Given the description of an element on the screen output the (x, y) to click on. 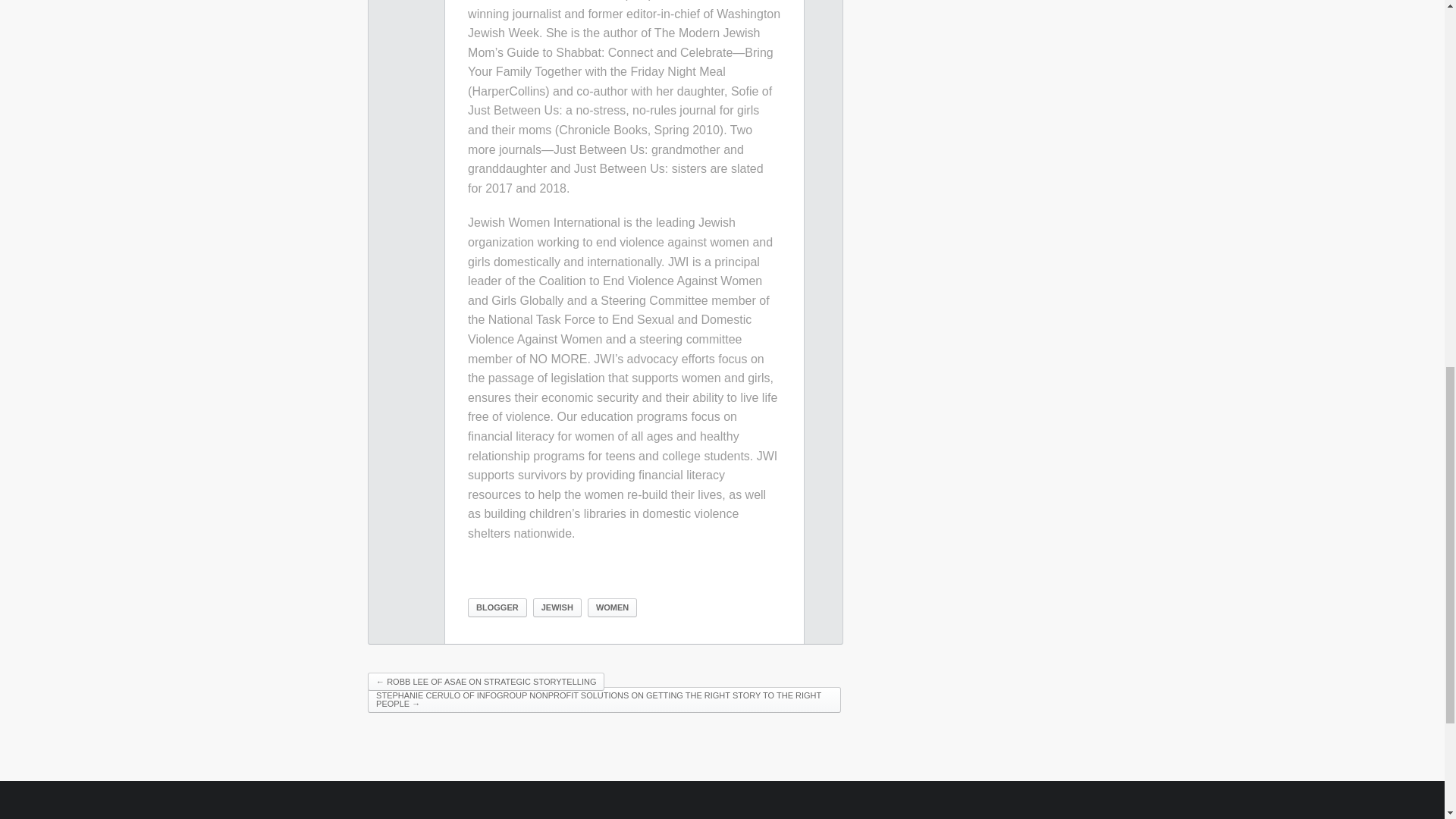
JEWISH (556, 607)
WOMEN (612, 607)
BLOGGER (497, 607)
